Given the description of an element on the screen output the (x, y) to click on. 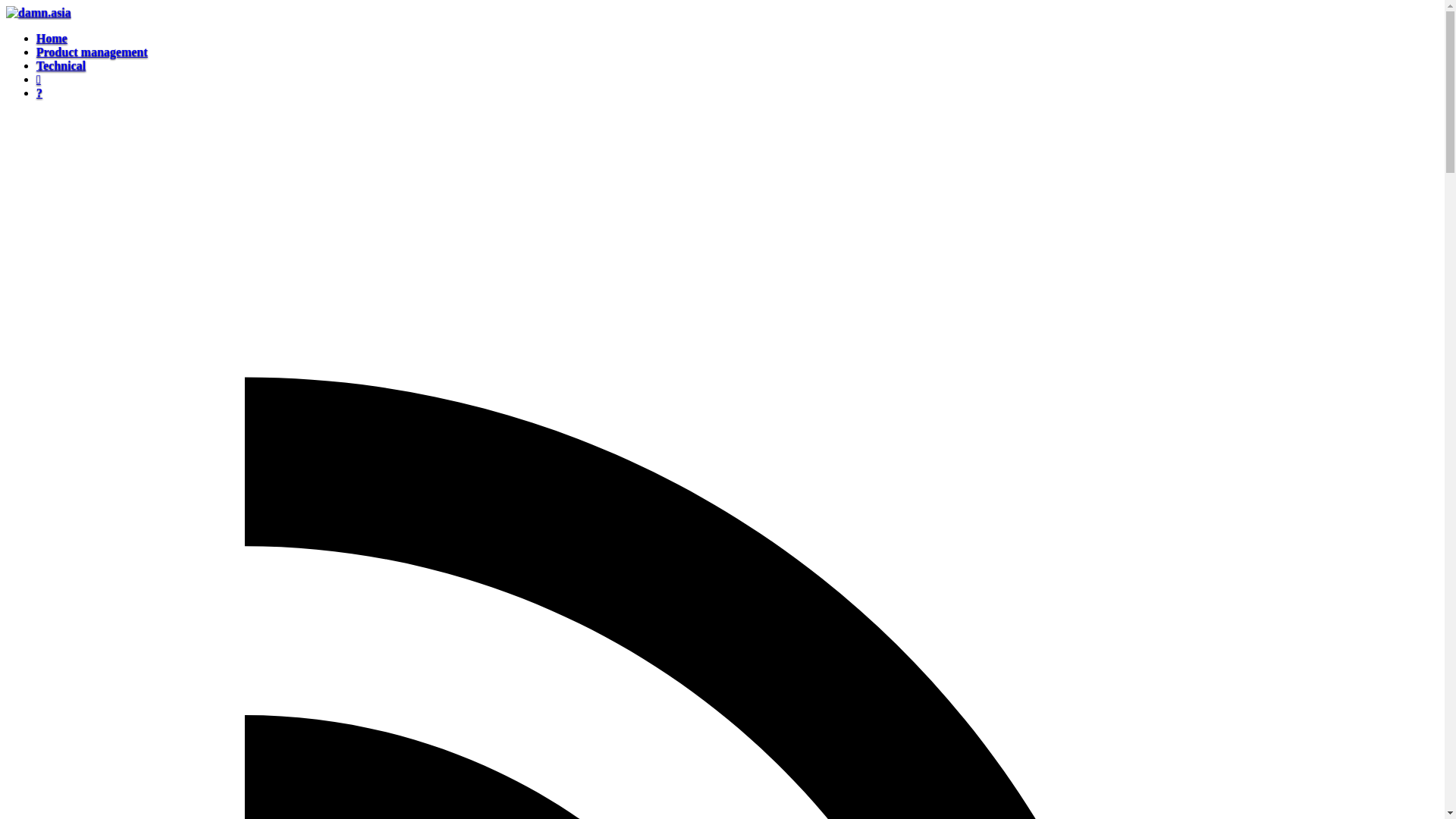
Technical (60, 65)
Home (51, 38)
Product management (92, 51)
